Given the description of an element on the screen output the (x, y) to click on. 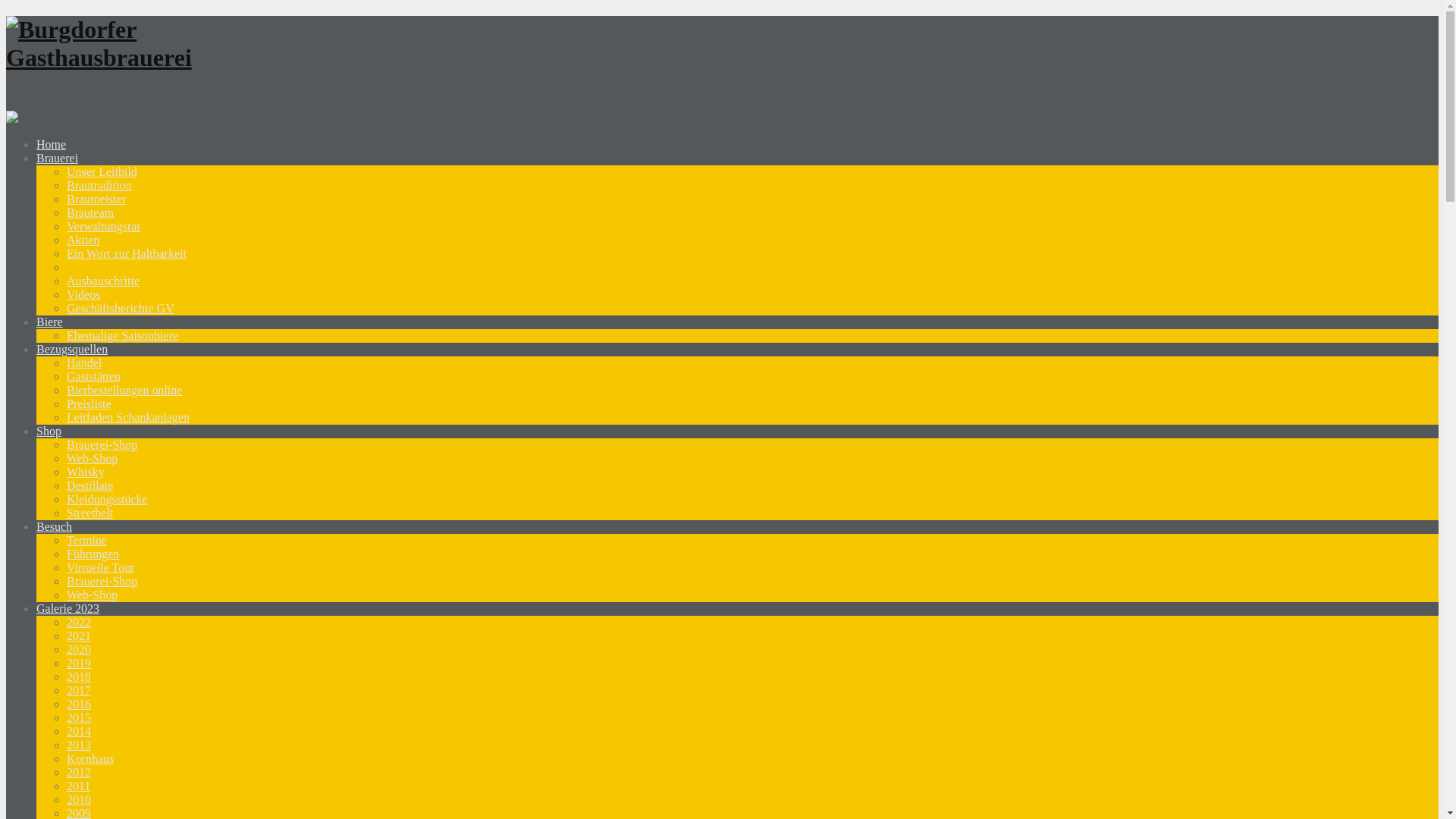
Brauerei Element type: text (57, 157)
Ehemalige Saisonbiere Element type: text (122, 335)
2017 Element type: text (78, 690)
Videos Element type: text (83, 294)
2012 Element type: text (78, 771)
2016 Element type: text (78, 703)
2014 Element type: text (78, 730)
Kornhaus Element type: text (89, 758)
Handel Element type: text (83, 362)
Web-Shop Element type: text (91, 457)
Streetbelt Element type: text (89, 512)
Braumeister Element type: text (95, 198)
Brauerei-Shop Element type: text (101, 444)
Home Element type: text (50, 144)
2010 Element type: text (78, 799)
Besuch Element type: text (54, 526)
Destillate Element type: text (89, 485)
Web-Shop Element type: text (91, 594)
Biere Element type: text (49, 321)
Leitfaden Schankanlagen Element type: text (127, 417)
Brauerei-Shop Element type: text (101, 580)
Ausbauschritte Element type: text (102, 280)
2015 Element type: text (78, 717)
Shop Element type: text (48, 430)
2011 Element type: text (78, 785)
Unser Leitbild Element type: text (101, 171)
Brautradition Element type: text (98, 184)
Brauteam Element type: text (89, 212)
2018 Element type: text (78, 676)
Aktien Element type: text (83, 239)
Galerie 2023 Element type: text (67, 608)
Preisliste Element type: text (88, 403)
Whisky Element type: text (85, 471)
Bierbestellungen online Element type: text (124, 389)
Termine Element type: text (86, 539)
Verwaltungsrat Element type: text (103, 225)
2022 Element type: text (78, 621)
Bierkultur Element type: text (91, 266)
2013 Element type: text (78, 744)
Burgdorfer Gasthausbrauerei Element type: hover (98, 57)
Ein Wort zur Haltbarkeit Element type: text (126, 253)
2020 Element type: text (78, 649)
Virtuelle Tour Element type: text (100, 567)
Bezugsquellen Element type: text (71, 348)
2021 Element type: text (78, 635)
2019 Element type: text (78, 662)
